Given the description of an element on the screen output the (x, y) to click on. 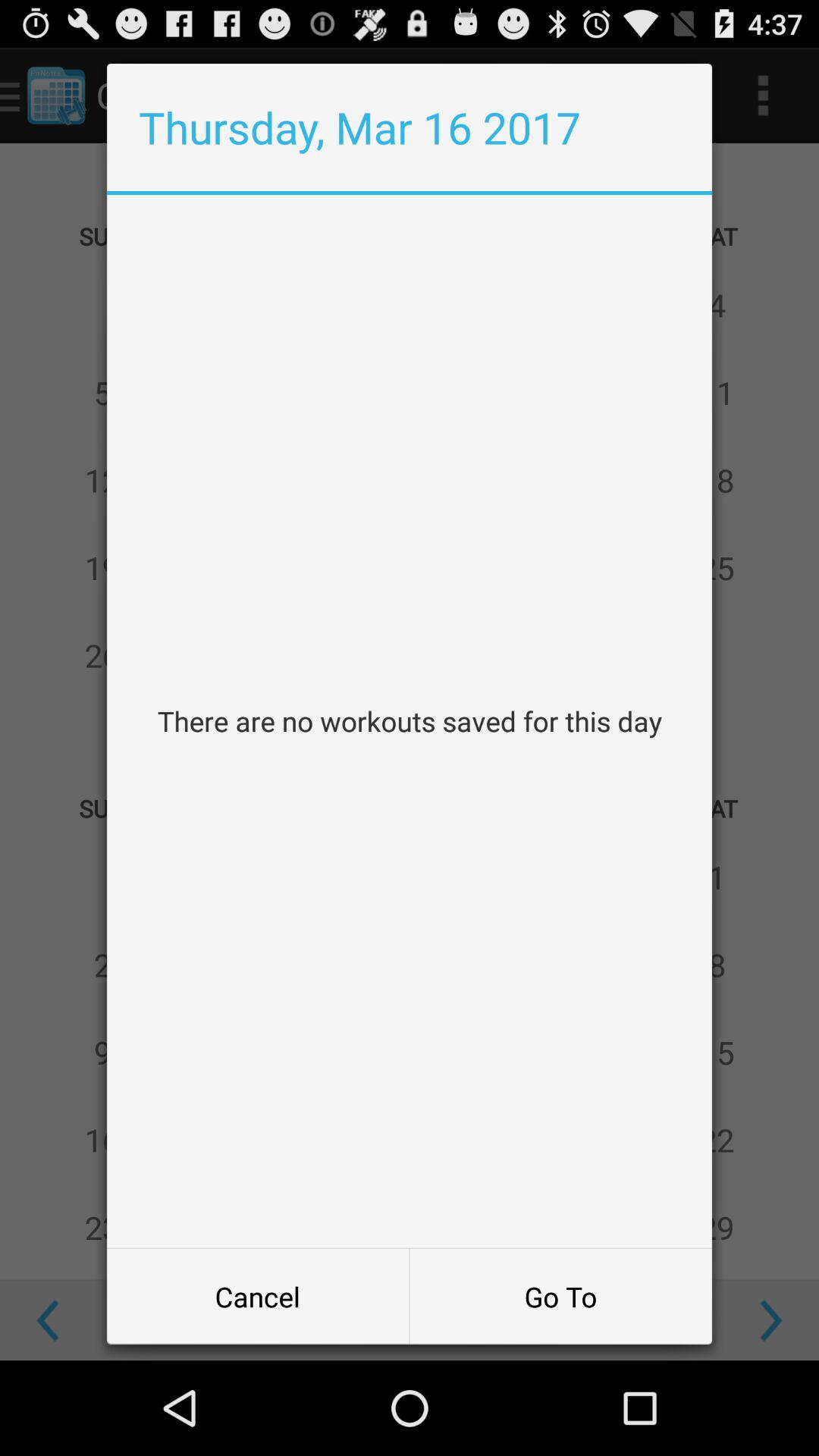
press icon below the there are no icon (257, 1296)
